Given the description of an element on the screen output the (x, y) to click on. 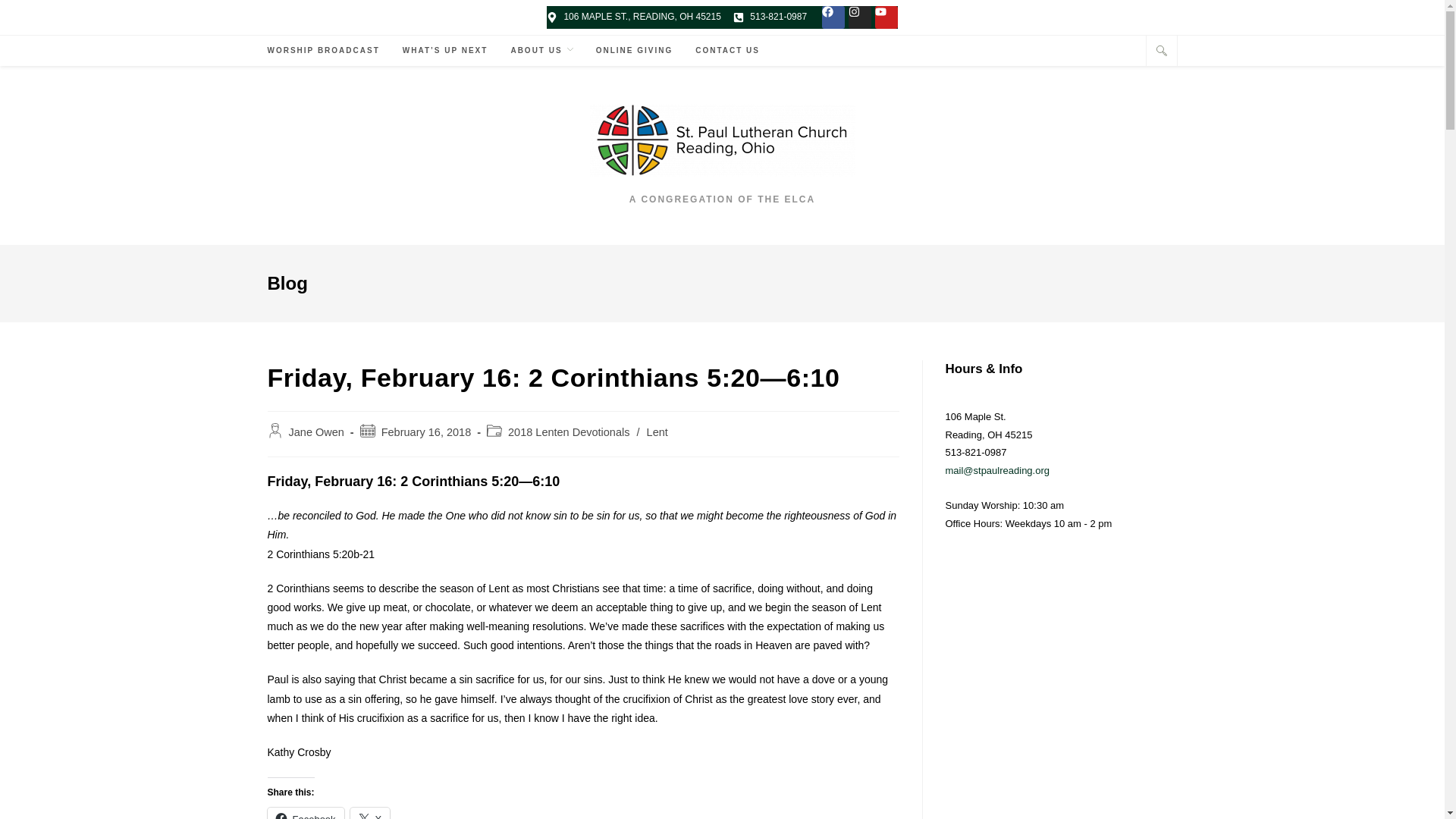
Posts by Jane Owen (315, 431)
WORSHIP BROADCAST (323, 51)
ABOUT US (541, 51)
Click to share on X (370, 813)
106 MAPLE ST., READING, OH 45215 (633, 17)
CONTACT US (727, 51)
ONLINE GIVING (634, 51)
513-821-0987 (769, 17)
Click to share on Facebook (304, 813)
Google map of st. paul lutheran church, reading, oh (1060, 690)
